Given the description of an element on the screen output the (x, y) to click on. 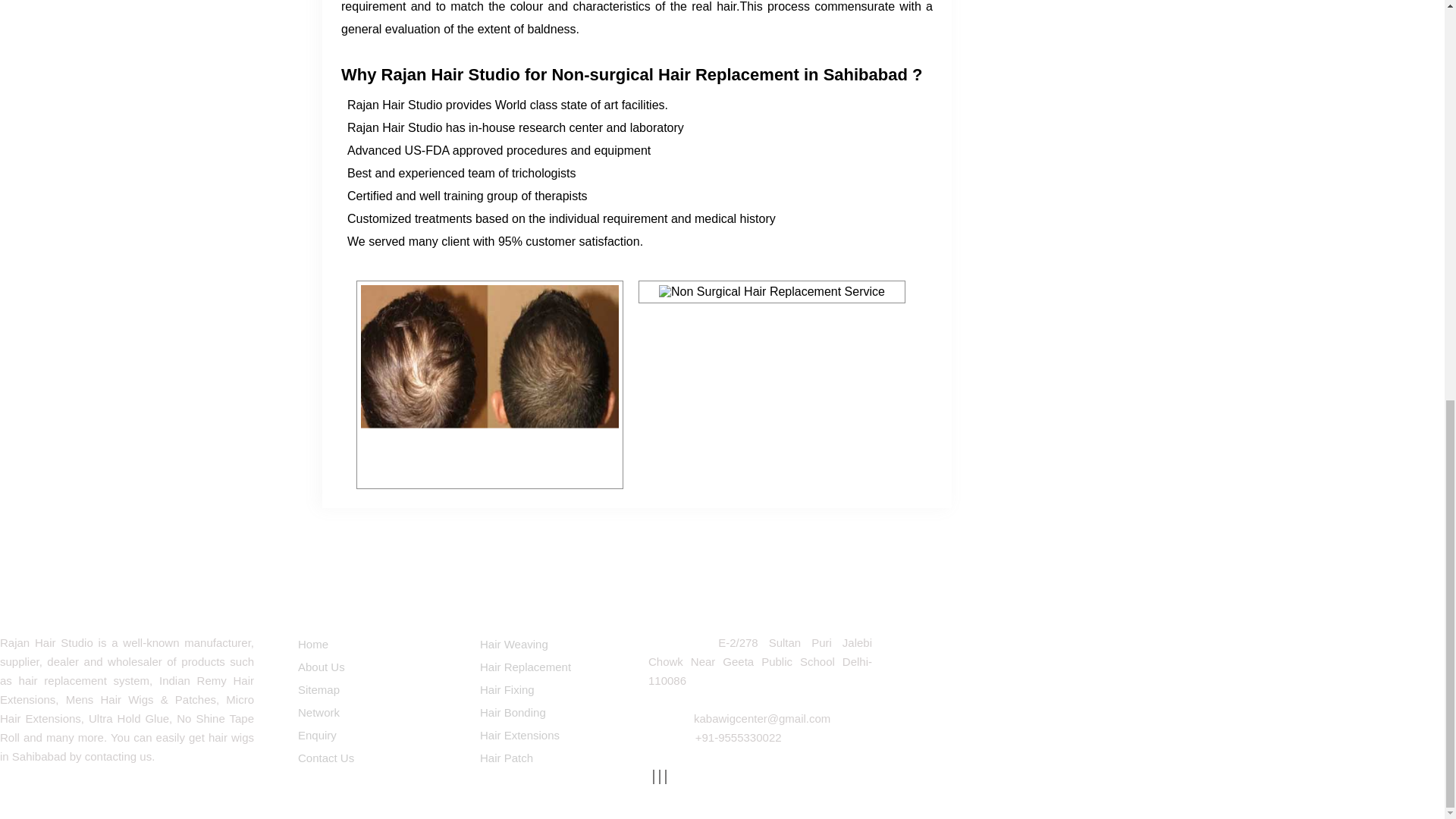
Contact Us (366, 757)
Hair Weaving (548, 644)
Sitemap (366, 689)
Hair Replacement (548, 667)
Hair Fixing (548, 689)
Hair Patch (548, 757)
Network (366, 712)
Hair Extensions (548, 734)
About Us (366, 667)
Enquiry (366, 734)
Home (366, 644)
Hair Bonding (548, 712)
